Given the description of an element on the screen output the (x, y) to click on. 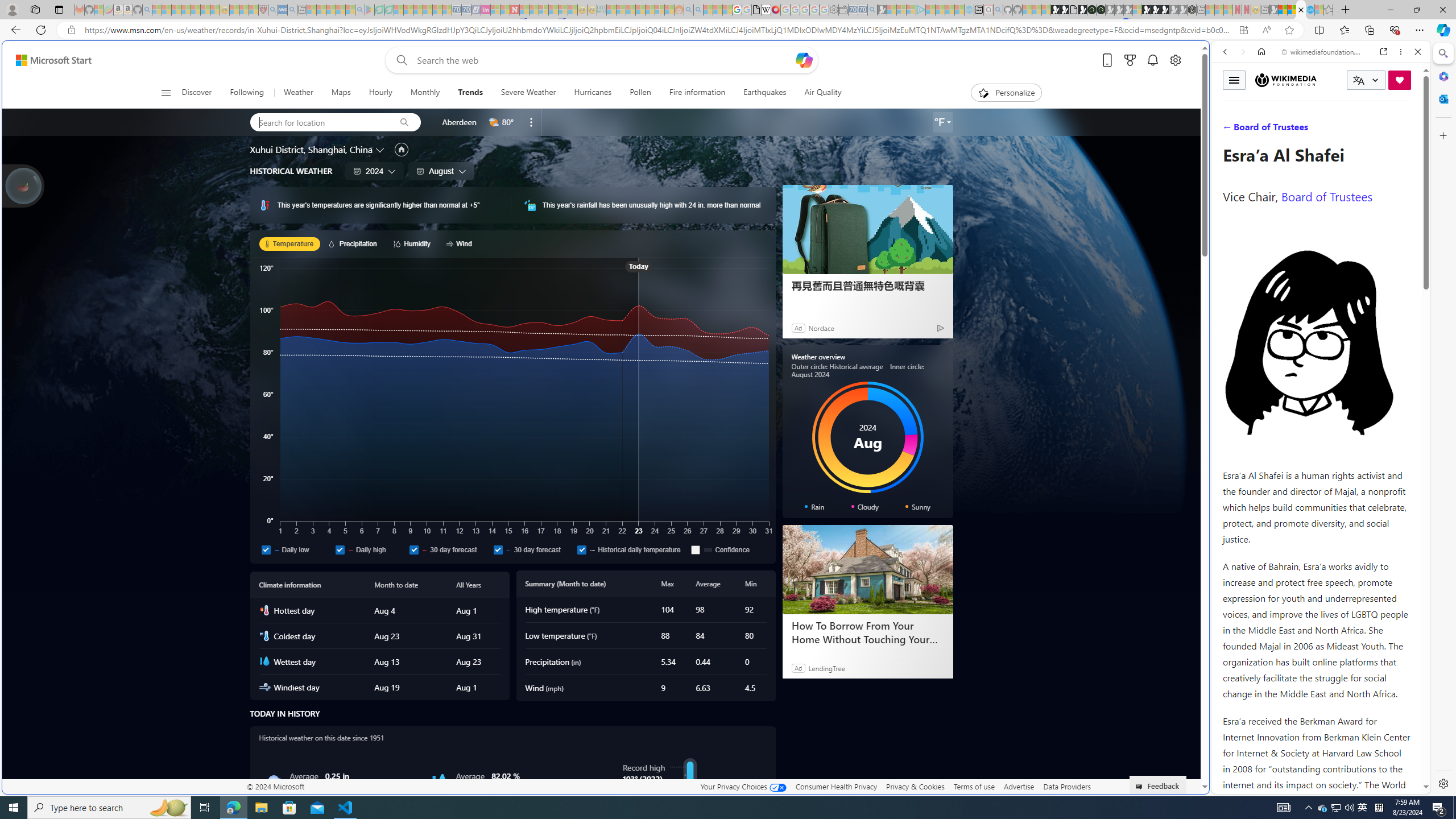
Severe Weather (528, 92)
